Given the description of an element on the screen output the (x, y) to click on. 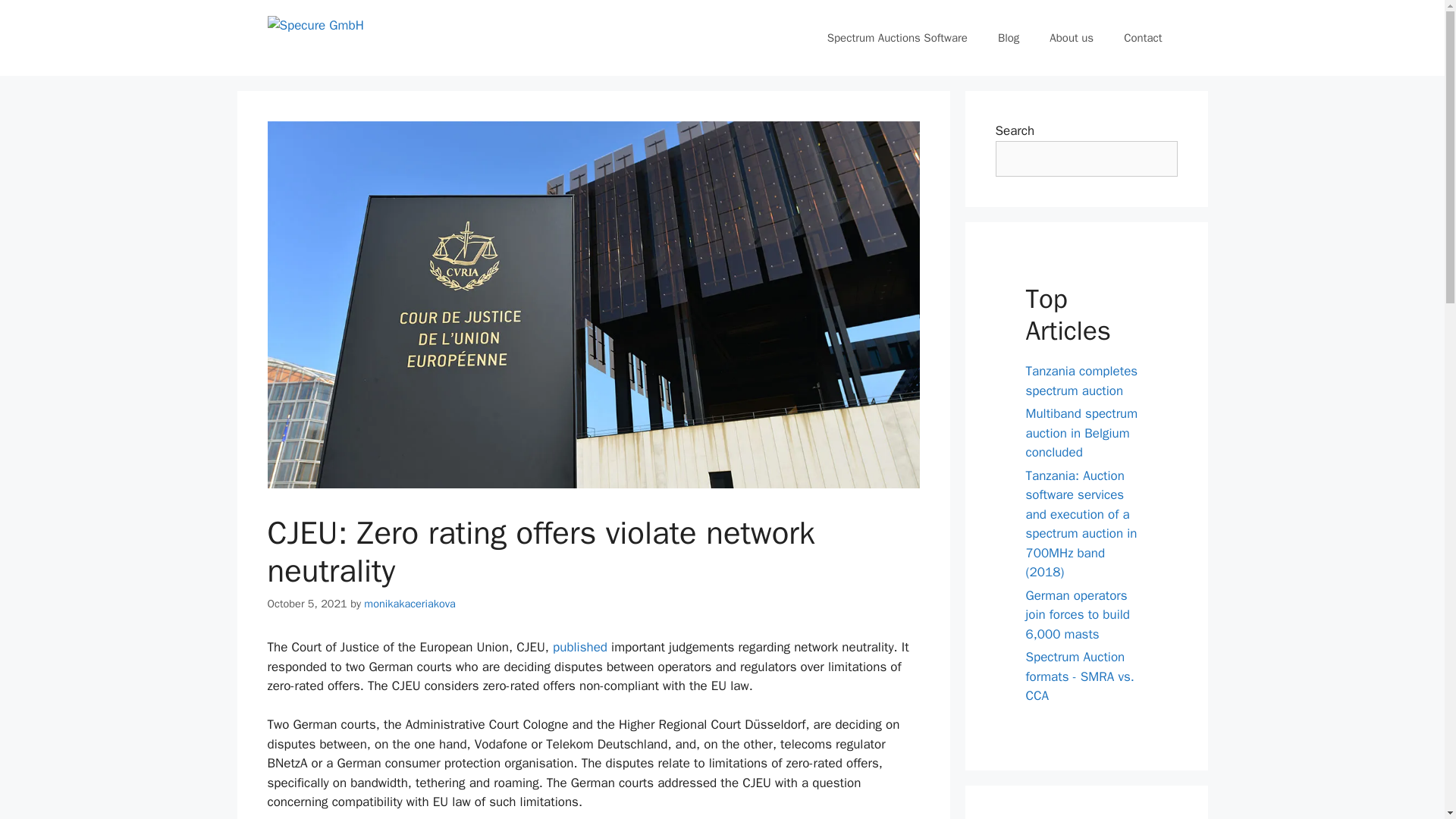
Multiband spectrum auction in Belgium concluded (1081, 432)
Tanzania completes spectrum auction (1081, 380)
Spectrum Auctions Software (897, 37)
Blog (1007, 37)
monikakaceriakova (409, 603)
RSS - Posts (1028, 818)
Contact (1142, 37)
Subscribe to posts (1028, 818)
published (582, 647)
About us (1070, 37)
